Given the description of an element on the screen output the (x, y) to click on. 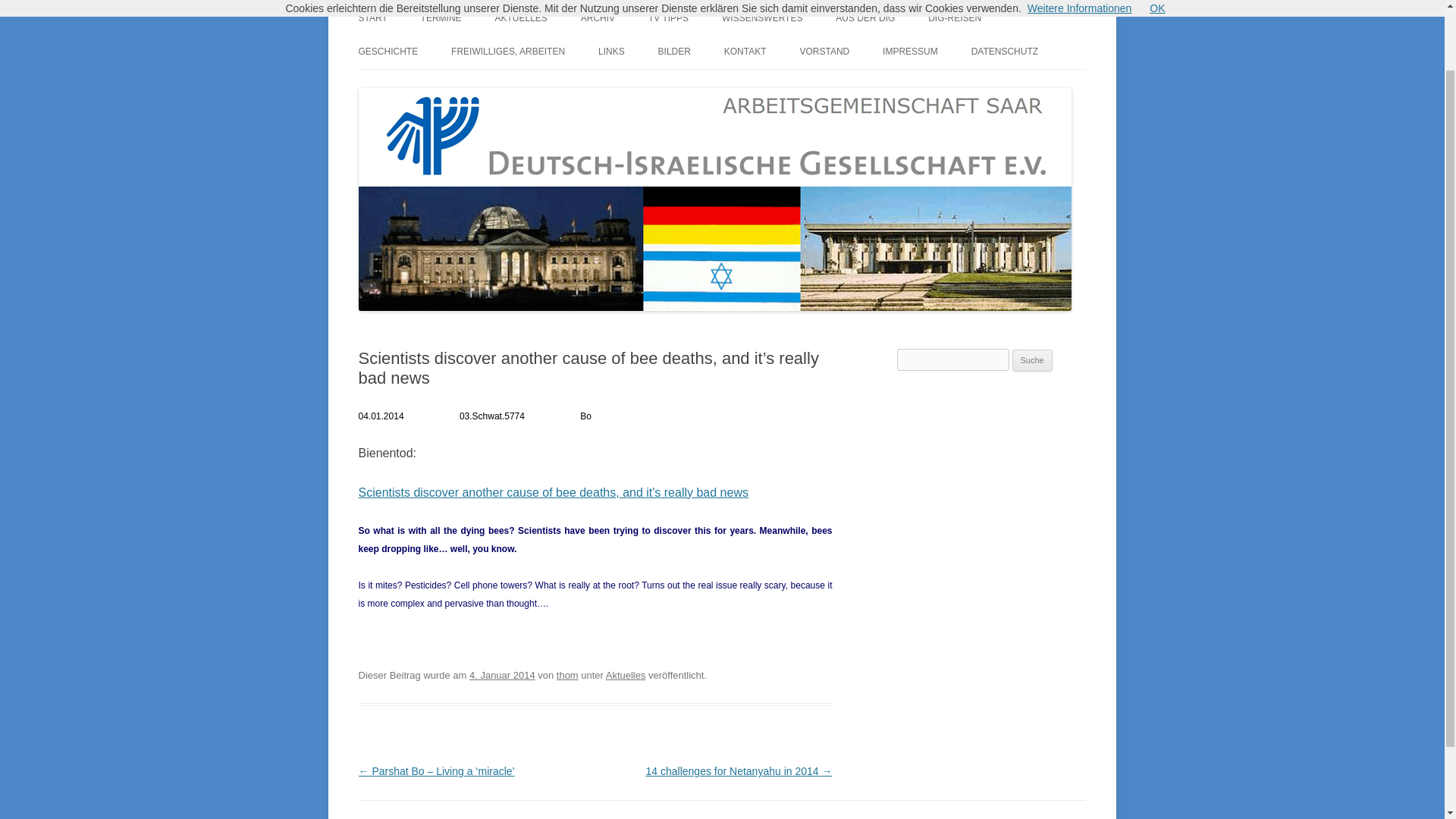
Suche (1031, 360)
KULTUR (673, 83)
IMPRESSUM (909, 51)
DIG Saar (399, 9)
KONTAKT (745, 51)
WISSENSWERTES (762, 18)
07:26 (501, 674)
BILDER (674, 51)
4. Januar 2014 (501, 674)
DATENSCHUTZ (1004, 51)
thom (567, 674)
AUS DER DIG (865, 18)
DIG-REISEN (954, 18)
GESCHICHTE (387, 51)
